Given the description of an element on the screen output the (x, y) to click on. 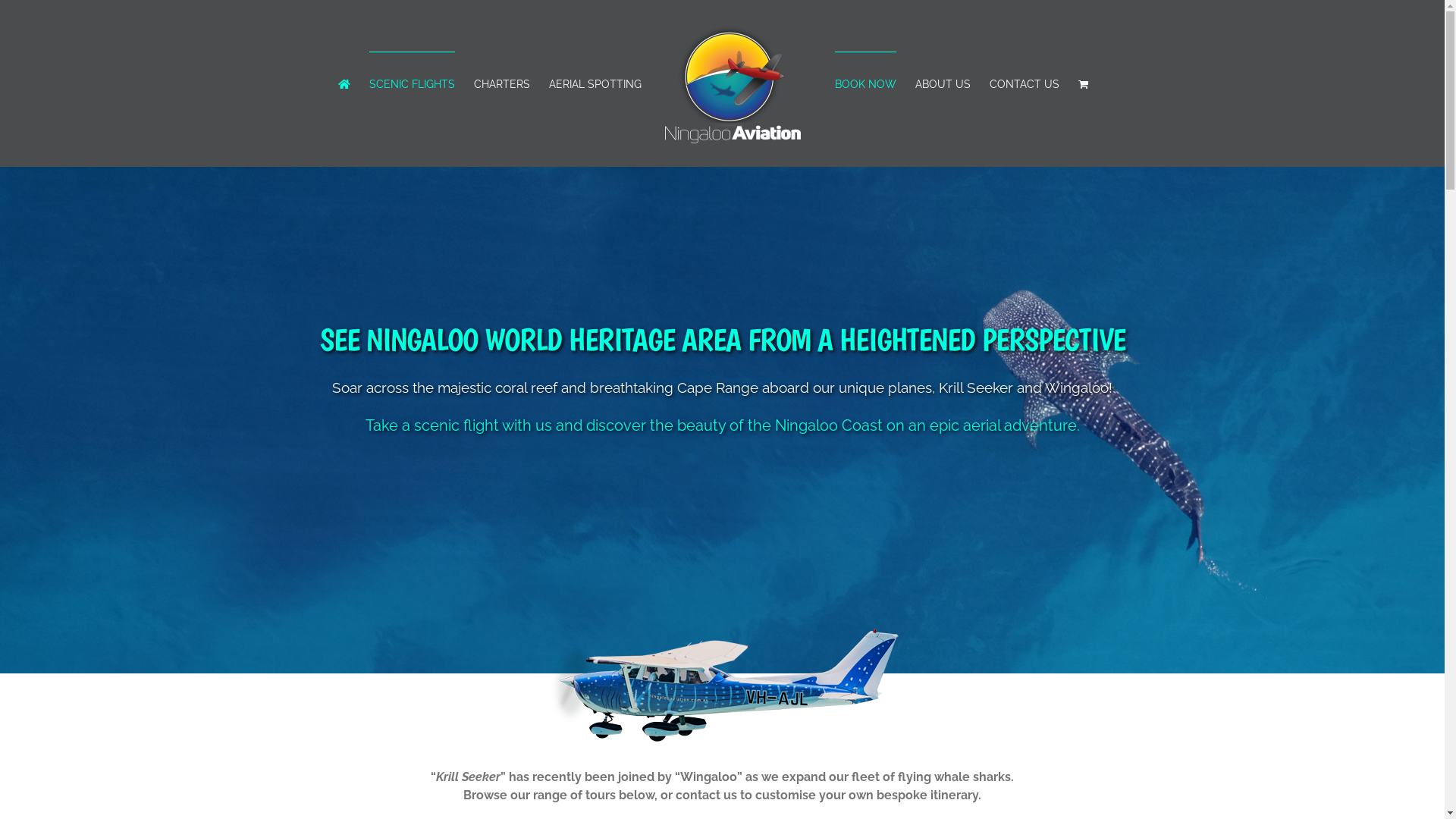
AERIAL SPOTTING Element type: text (595, 83)
CONTACT US Element type: text (1023, 83)
SCENIC FLIGHTS Element type: text (411, 83)
KrillSeeker_Cutout2 Element type: hover (721, 679)
ABOUT US Element type: text (941, 83)
CHARTERS Element type: text (501, 83)
BOOK NOW Element type: text (864, 83)
